Given the description of an element on the screen output the (x, y) to click on. 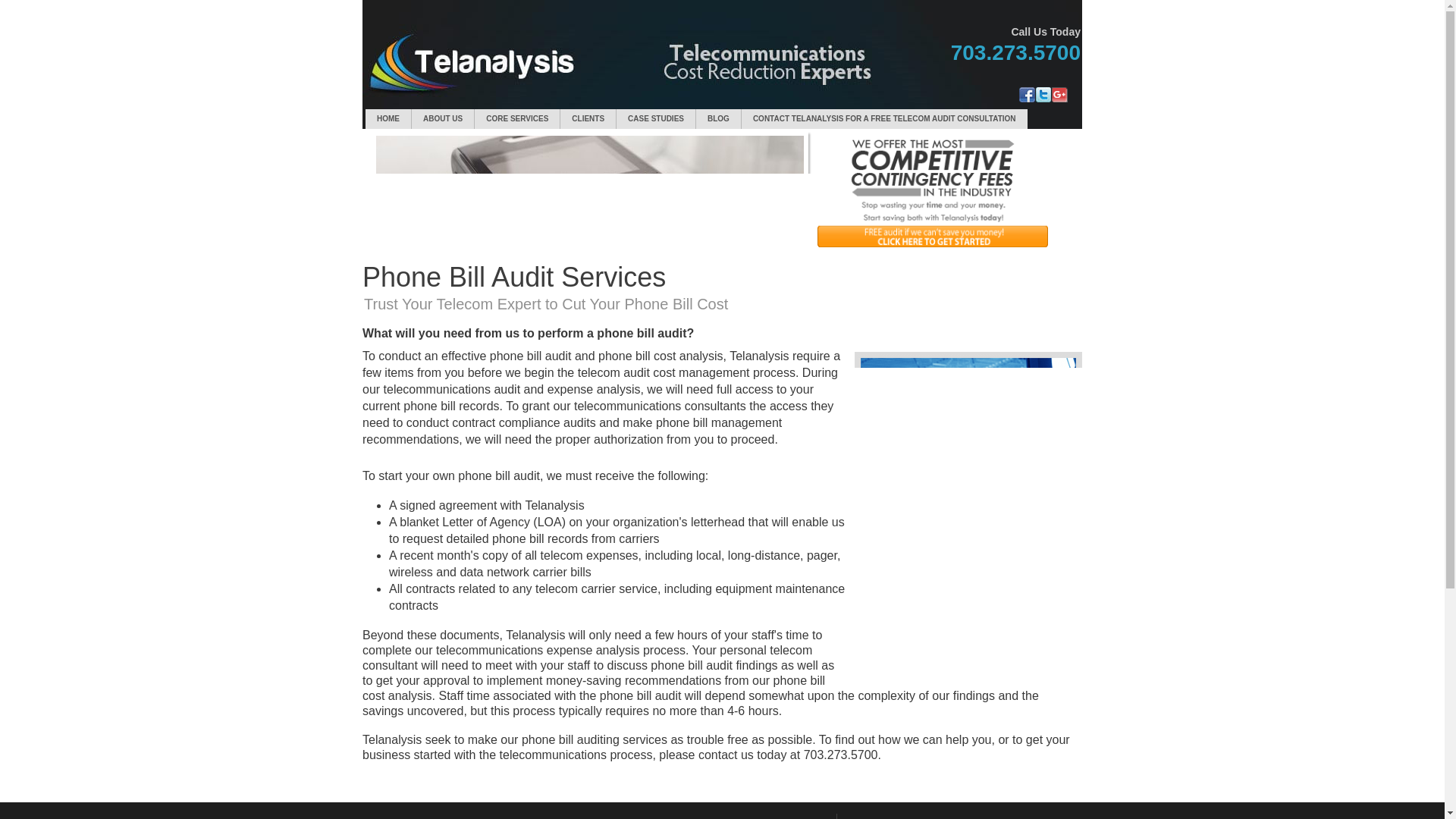
ABOUT US (443, 118)
CORE SERVICES (516, 118)
CLIENTS (587, 118)
BLOG (718, 118)
CONTACT TELANALYSIS FOR A FREE TELECOM AUDIT CONSULTATION (884, 118)
HOME (387, 118)
CASE STUDIES (655, 118)
